Given the description of an element on the screen output the (x, y) to click on. 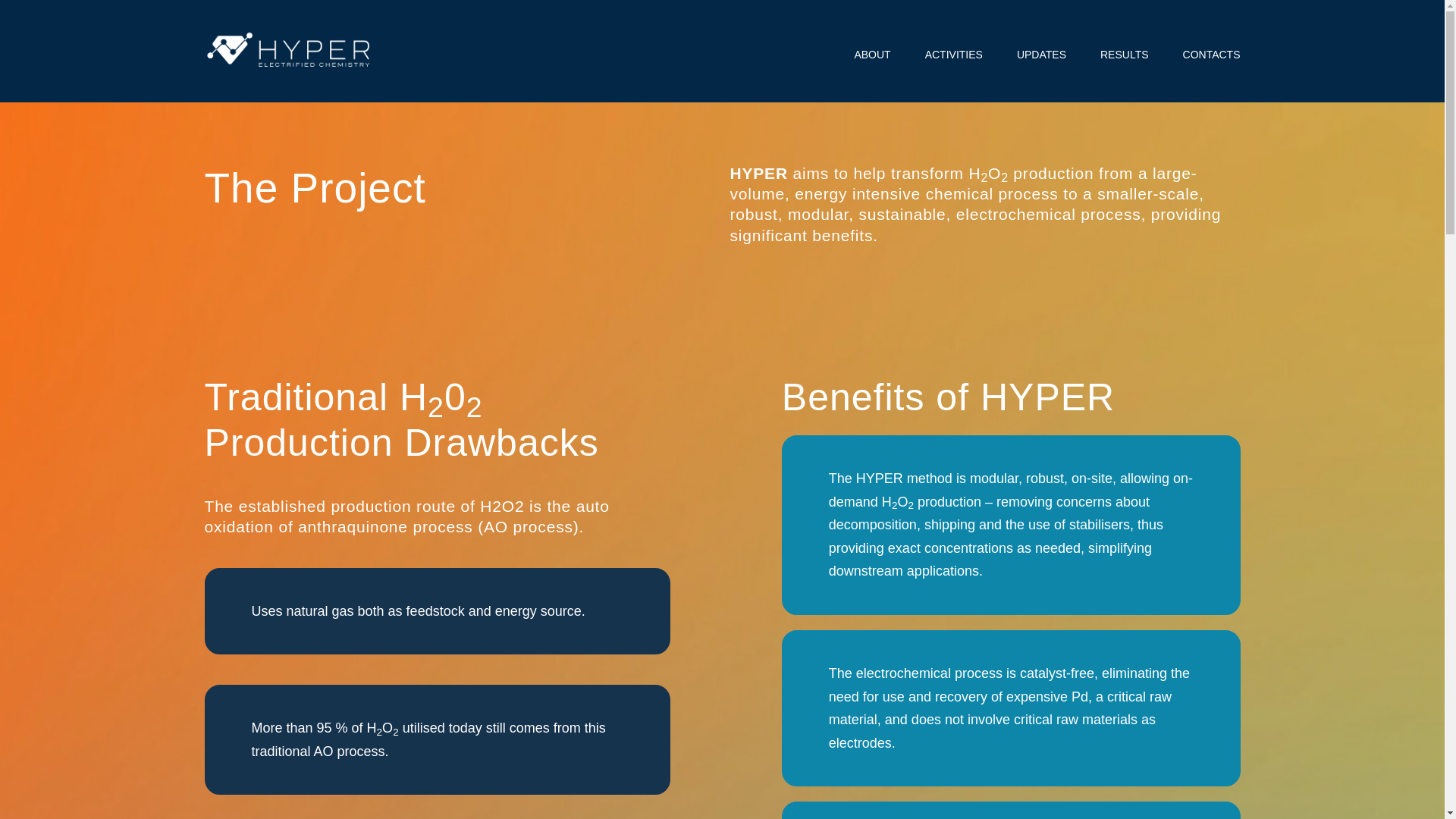
RESULTS (1124, 54)
ACTIVITIES (953, 54)
UPDATES (1040, 54)
CONTACTS (1211, 54)
ABOUT (871, 54)
